Given the description of an element on the screen output the (x, y) to click on. 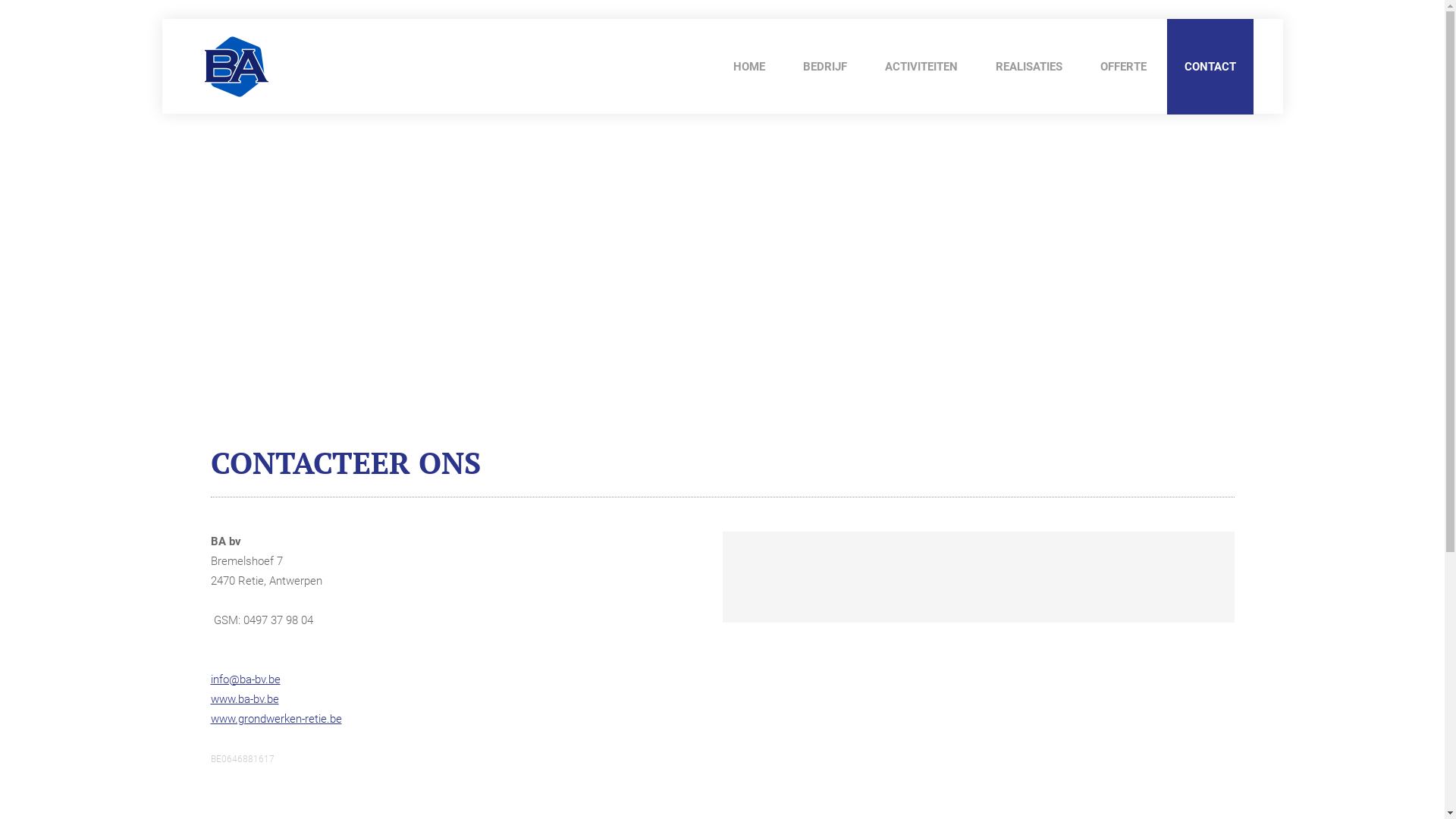
ACTIVITEITEN Element type: text (921, 66)
OFFERTE Element type: text (1123, 66)
CONTACT Element type: text (1209, 66)
HOME Element type: text (748, 66)
info@ba-bv.be Element type: text (245, 679)
www.ba-bv.be Element type: text (244, 699)
BEDRIJF Element type: text (824, 66)
REALISATIES Element type: text (1028, 66)
www.grondwerken-retie.be Element type: text (276, 718)
